Given the description of an element on the screen output the (x, y) to click on. 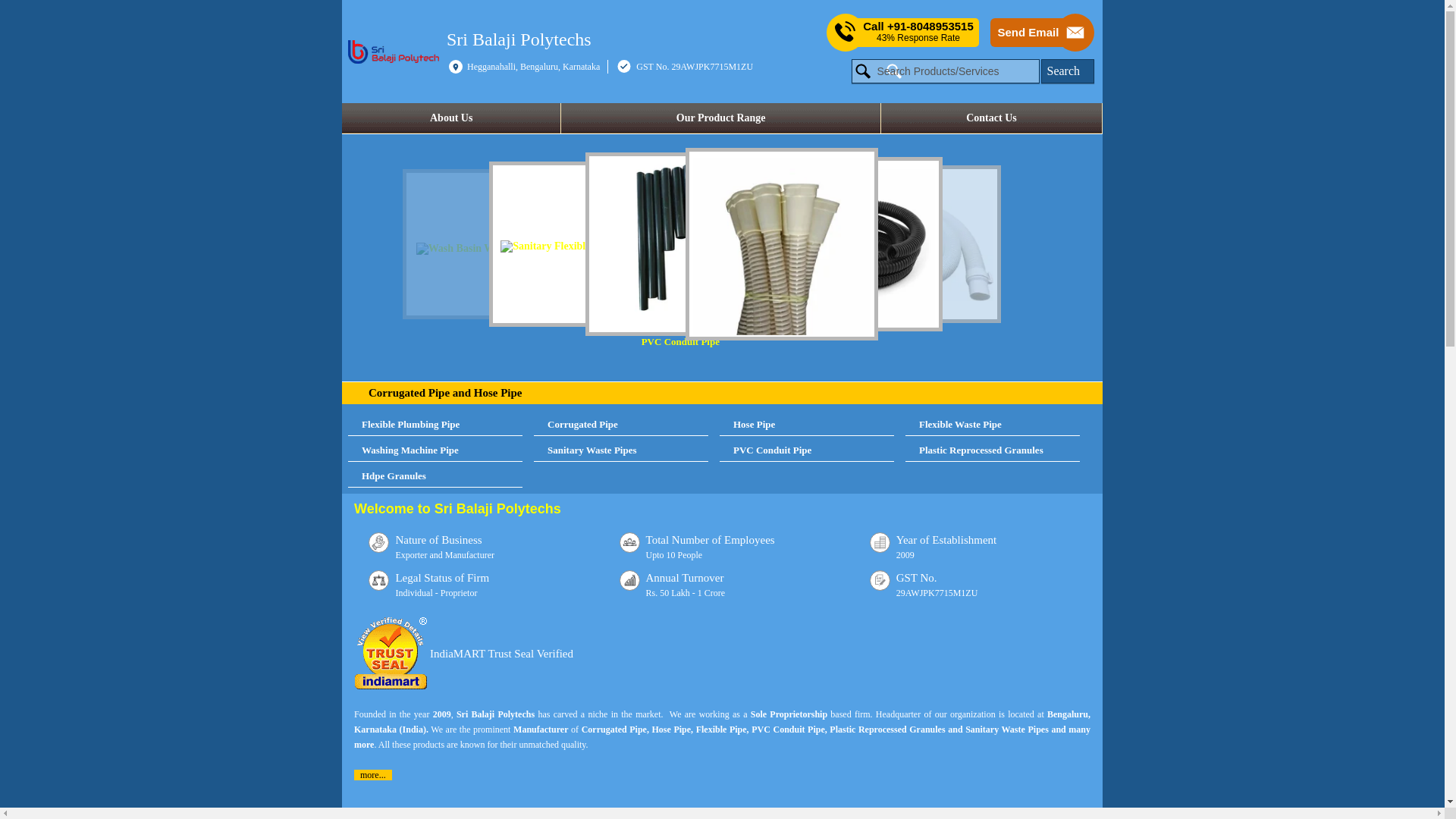
Flexible Waste Pipe (992, 424)
Our Product Range (720, 118)
Washing Machine Pipe (434, 450)
Plastic Reprocessed Granules (992, 450)
Hdpe Granules (434, 476)
PVC Conduit Pipe (691, 249)
Corrugated Pipe and Hose Pipe (445, 392)
Hose Pipe (806, 424)
Sanitary Waste Pipes (620, 450)
About Us (451, 118)
